Given the description of an element on the screen output the (x, y) to click on. 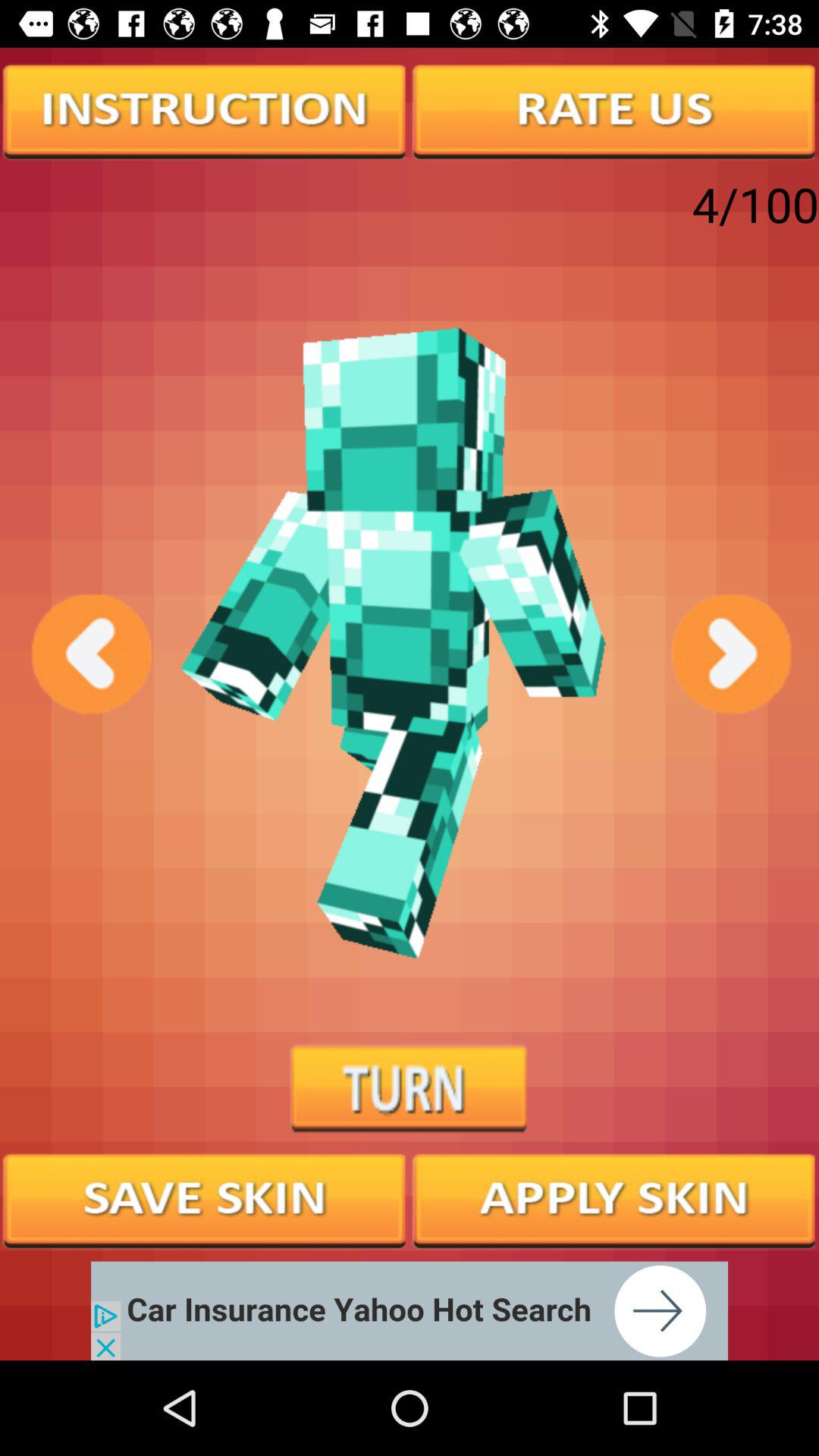
option (614, 109)
